Given the description of an element on the screen output the (x, y) to click on. 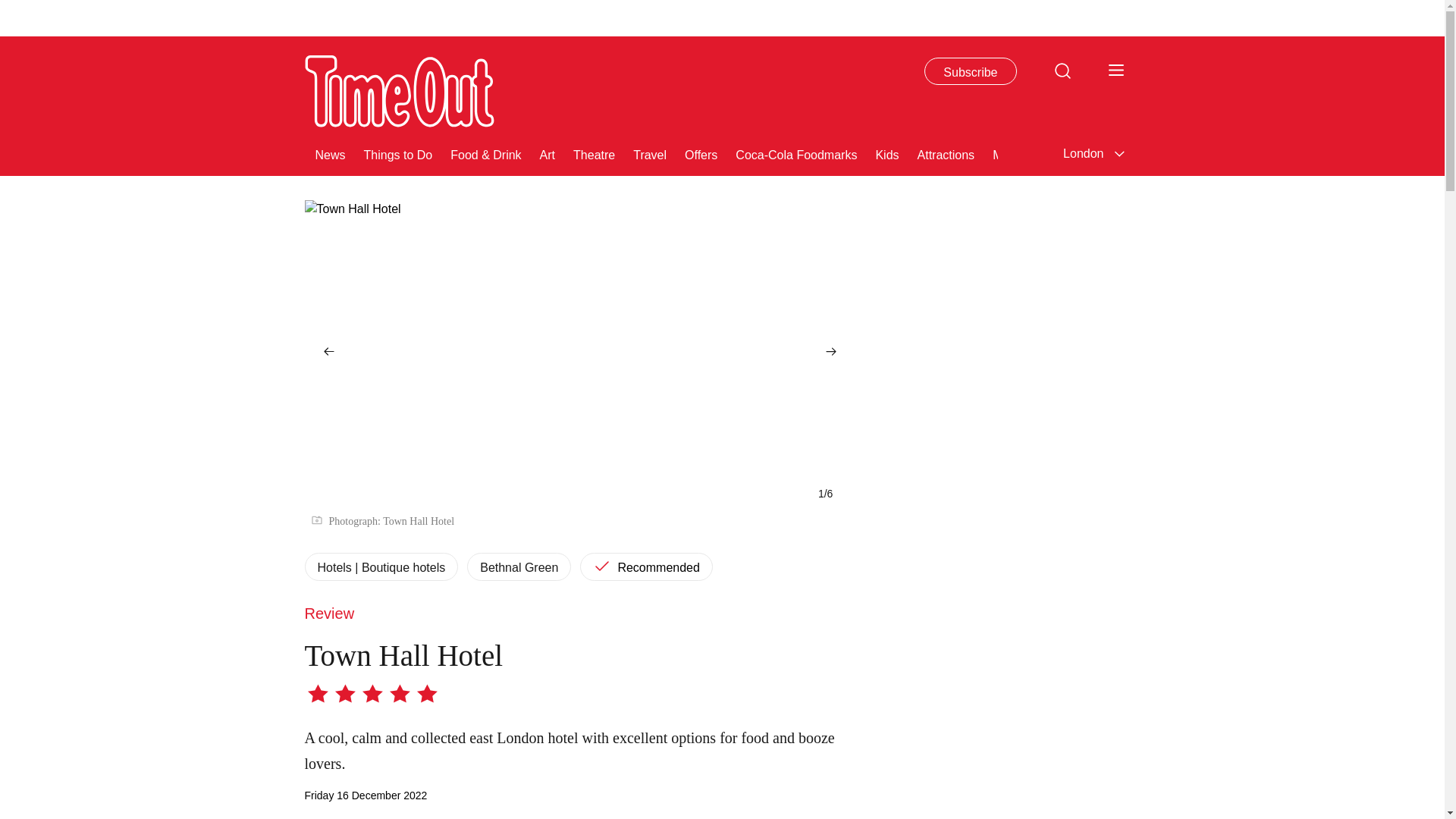
Things to Do (397, 153)
Subscribe (970, 71)
Nightlife (1176, 153)
Theatre (593, 153)
Hotels (1233, 153)
Coca-Cola Foodmarks (796, 153)
Travel (649, 153)
Attractions (945, 153)
